Given the description of an element on the screen output the (x, y) to click on. 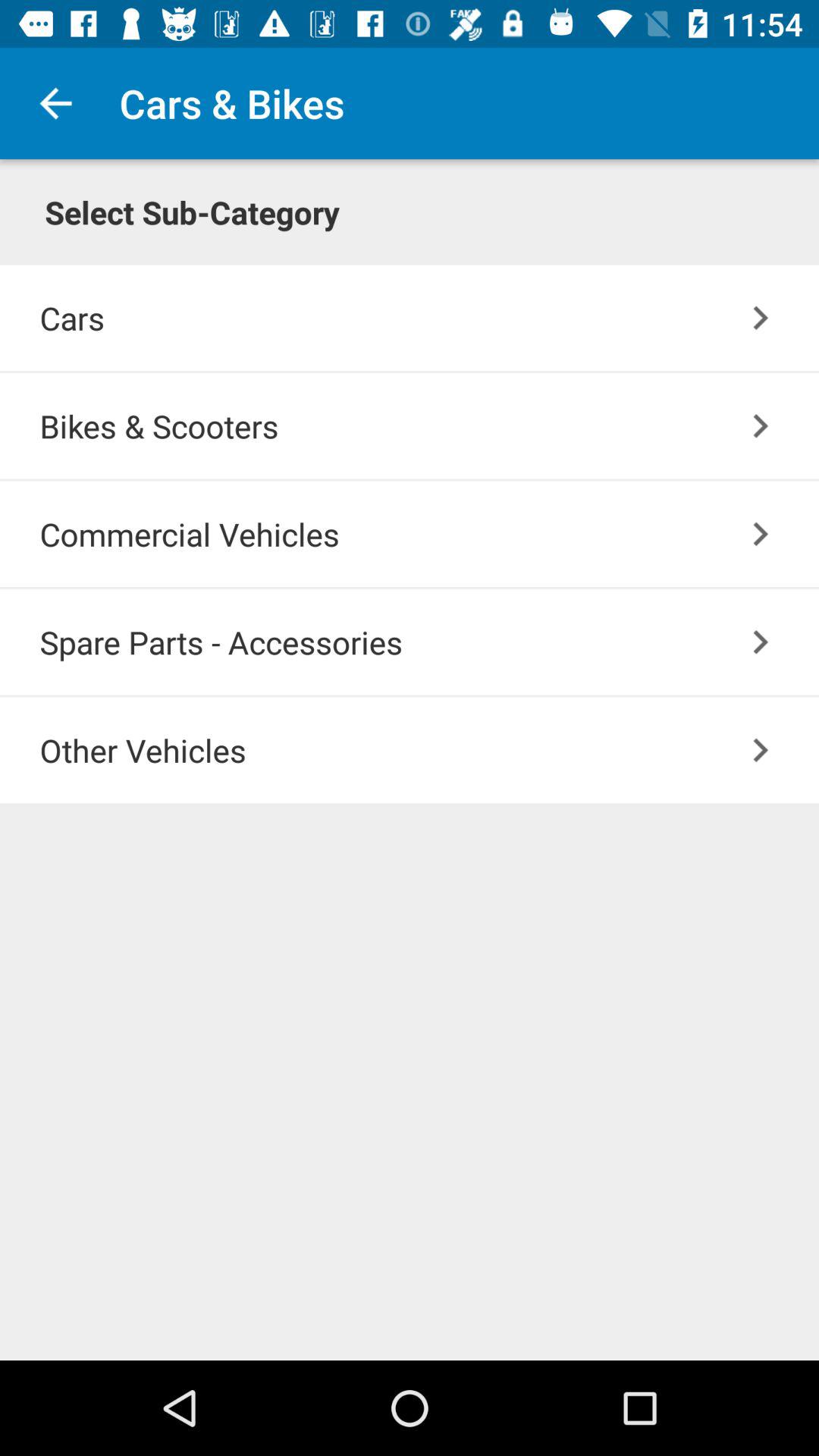
flip to bikes & scooters (429, 425)
